Given the description of an element on the screen output the (x, y) to click on. 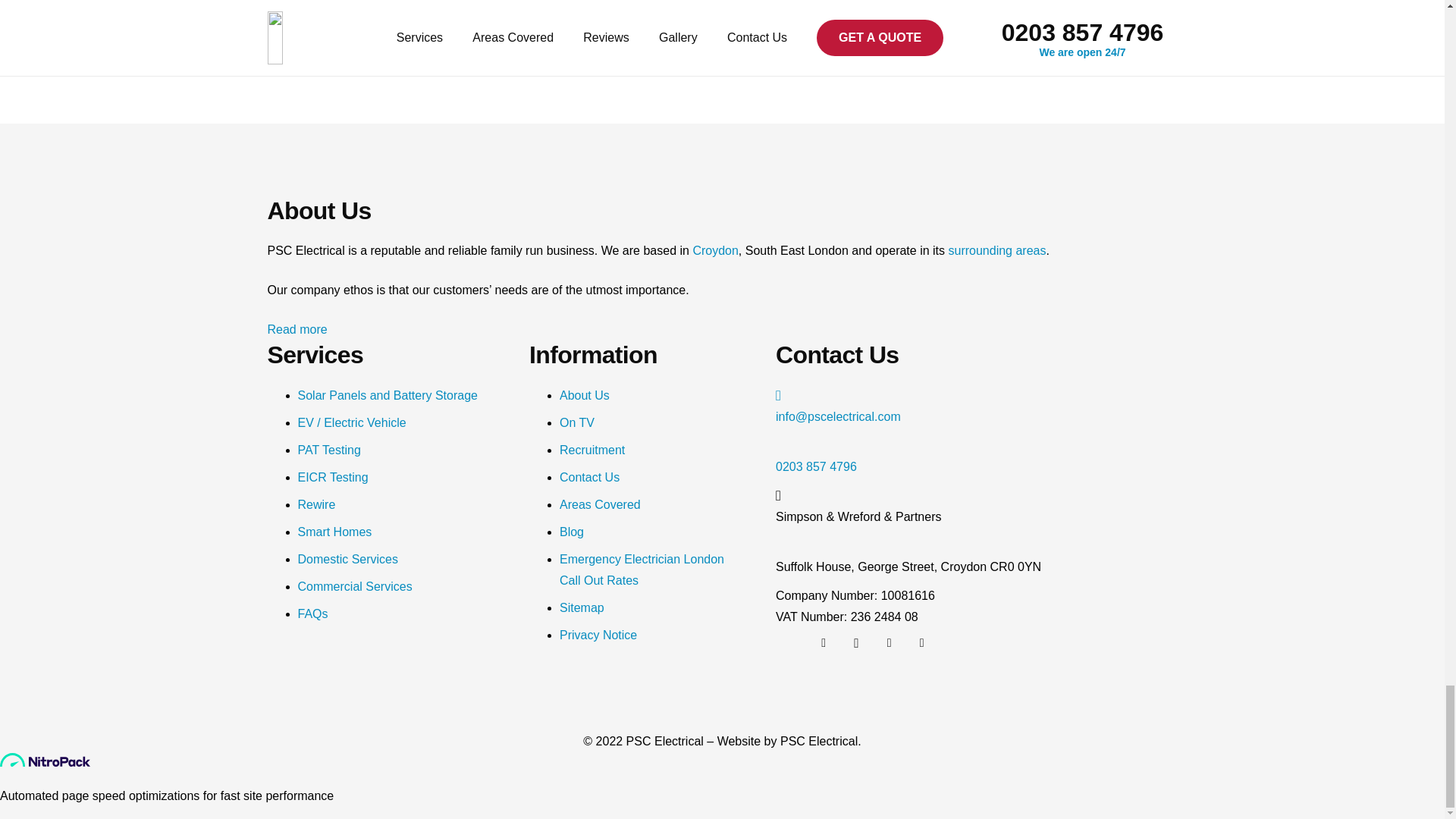
Twitter (823, 643)
Get A Free Quote (722, 32)
Facebook (889, 643)
YouTube (922, 643)
Instagram (855, 643)
